Given the description of an element on the screen output the (x, y) to click on. 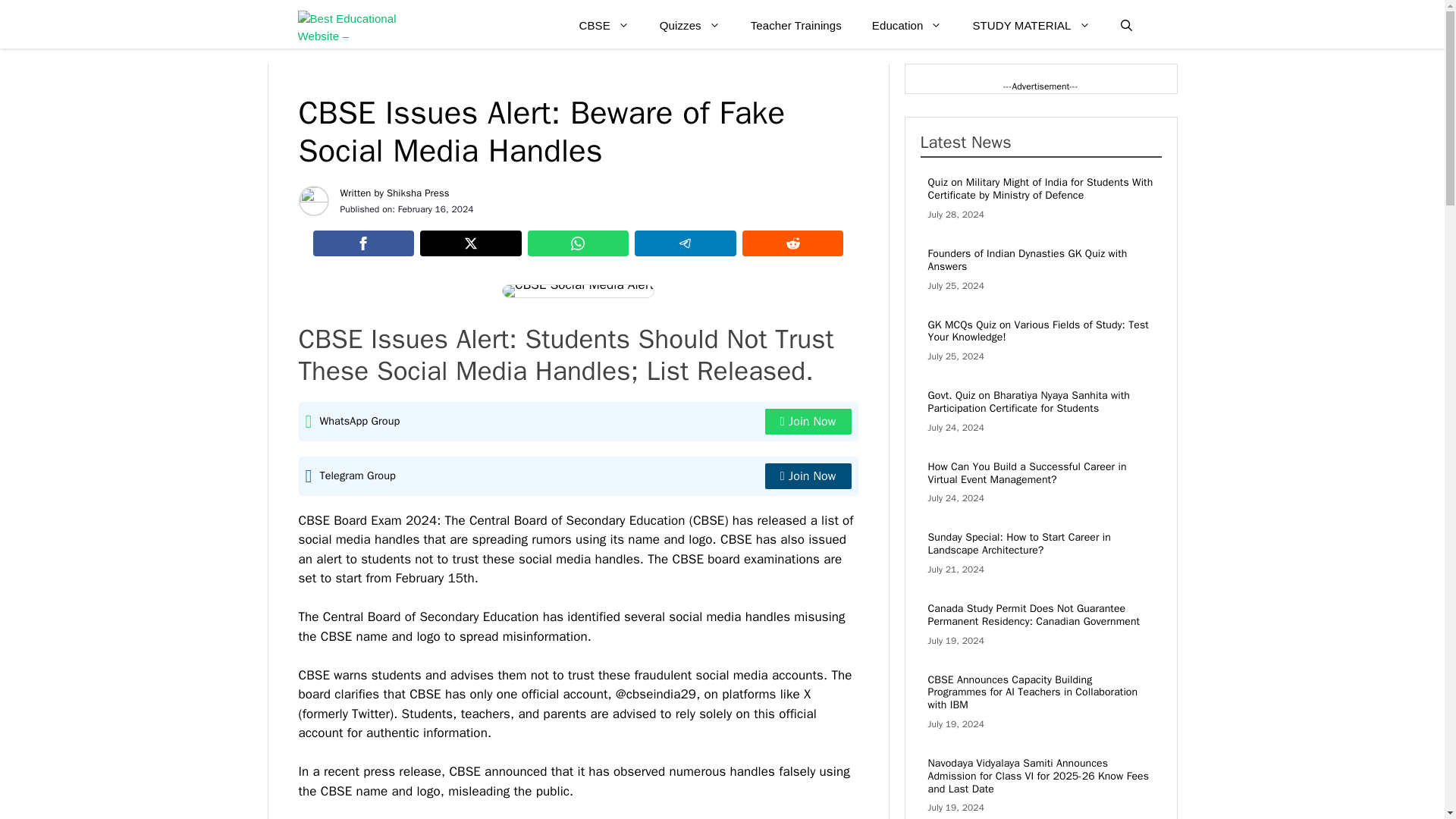
STUDY MATERIAL (1030, 25)
CBSE (604, 25)
Quizzes (690, 25)
Shiksha Press (418, 192)
Teacher Trainings (796, 25)
Education (907, 25)
